Given the description of an element on the screen output the (x, y) to click on. 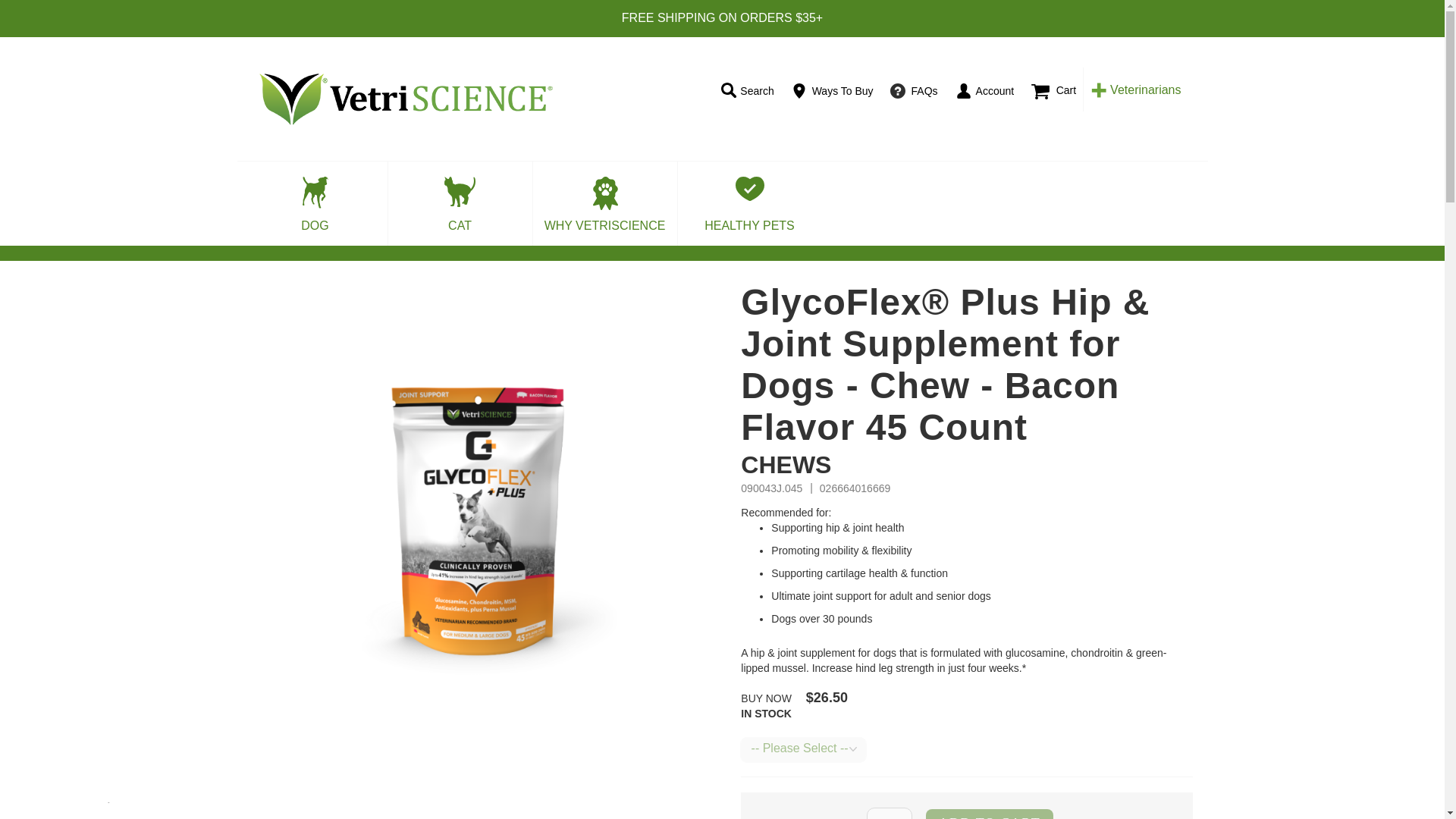
Ways To Buy (834, 91)
FAQs (916, 91)
Account (987, 91)
VetriScience Logo (442, 98)
DOG (315, 203)
VetriScience Logo (404, 98)
Search (749, 91)
Veterinarians (1137, 89)
Cart (1059, 88)
Qty (889, 813)
